Given the description of an element on the screen output the (x, y) to click on. 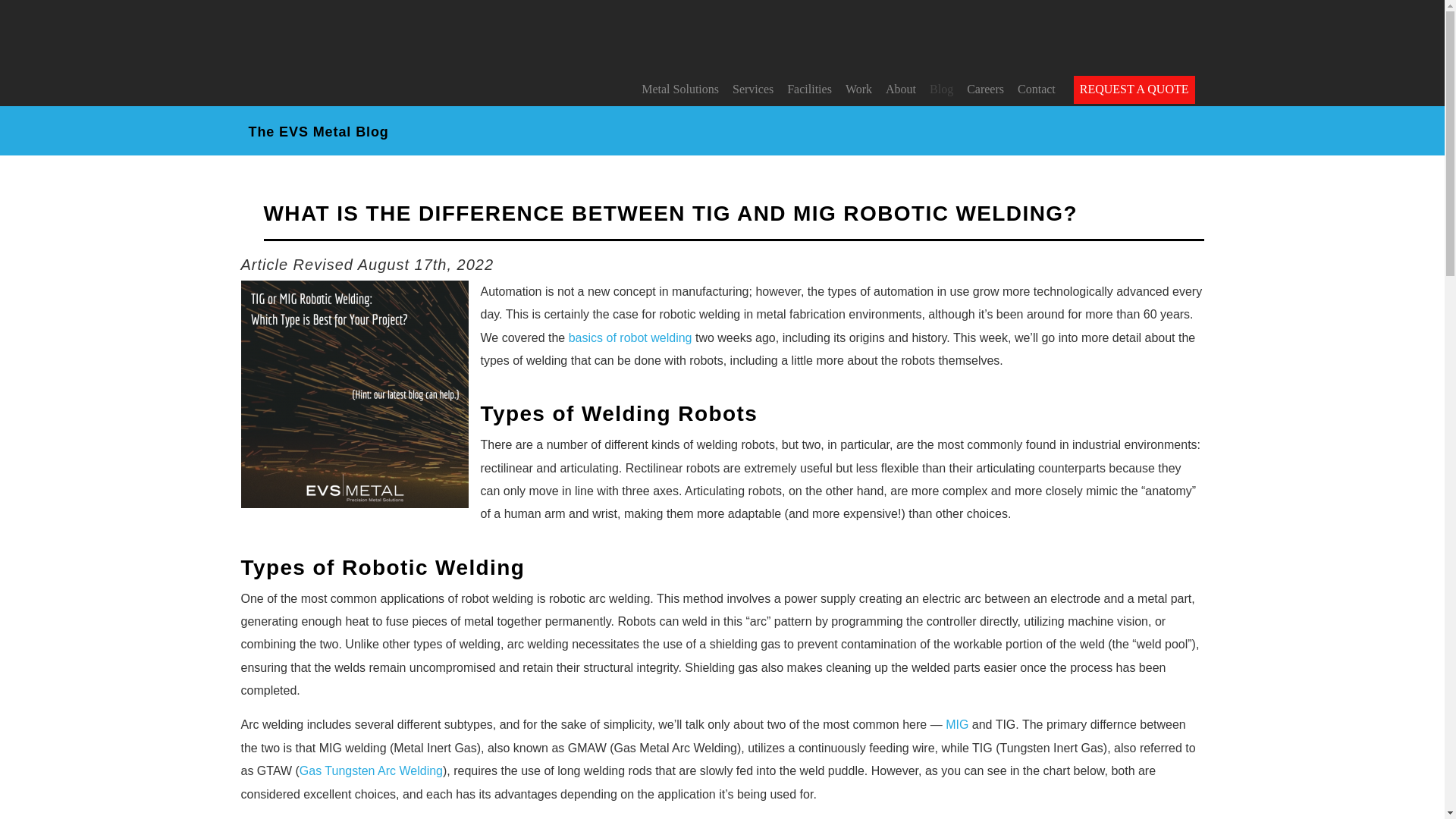
Metal Solutions (679, 90)
Services (752, 90)
Contact (1036, 90)
Work (858, 90)
Blog (941, 90)
REQUEST A QUOTE (1134, 90)
About (900, 90)
Careers (985, 90)
